Given the description of an element on the screen output the (x, y) to click on. 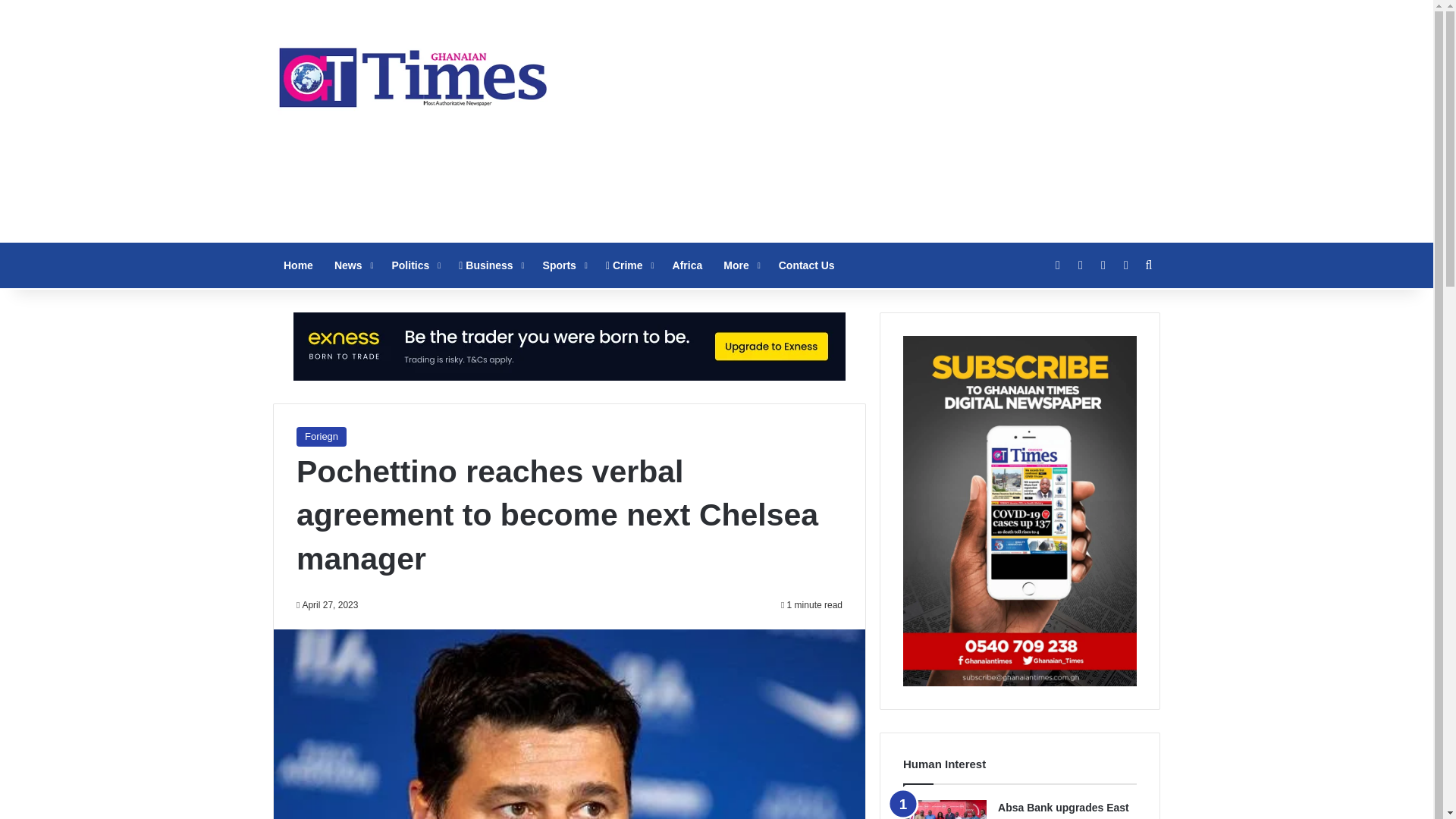
More (740, 265)
Business (489, 265)
Contact Us (806, 265)
Foriegn (321, 436)
News (352, 265)
Advertisement (868, 121)
Crime (628, 265)
Home (298, 265)
Sports (563, 265)
Politics (414, 265)
